Given the description of an element on the screen output the (x, y) to click on. 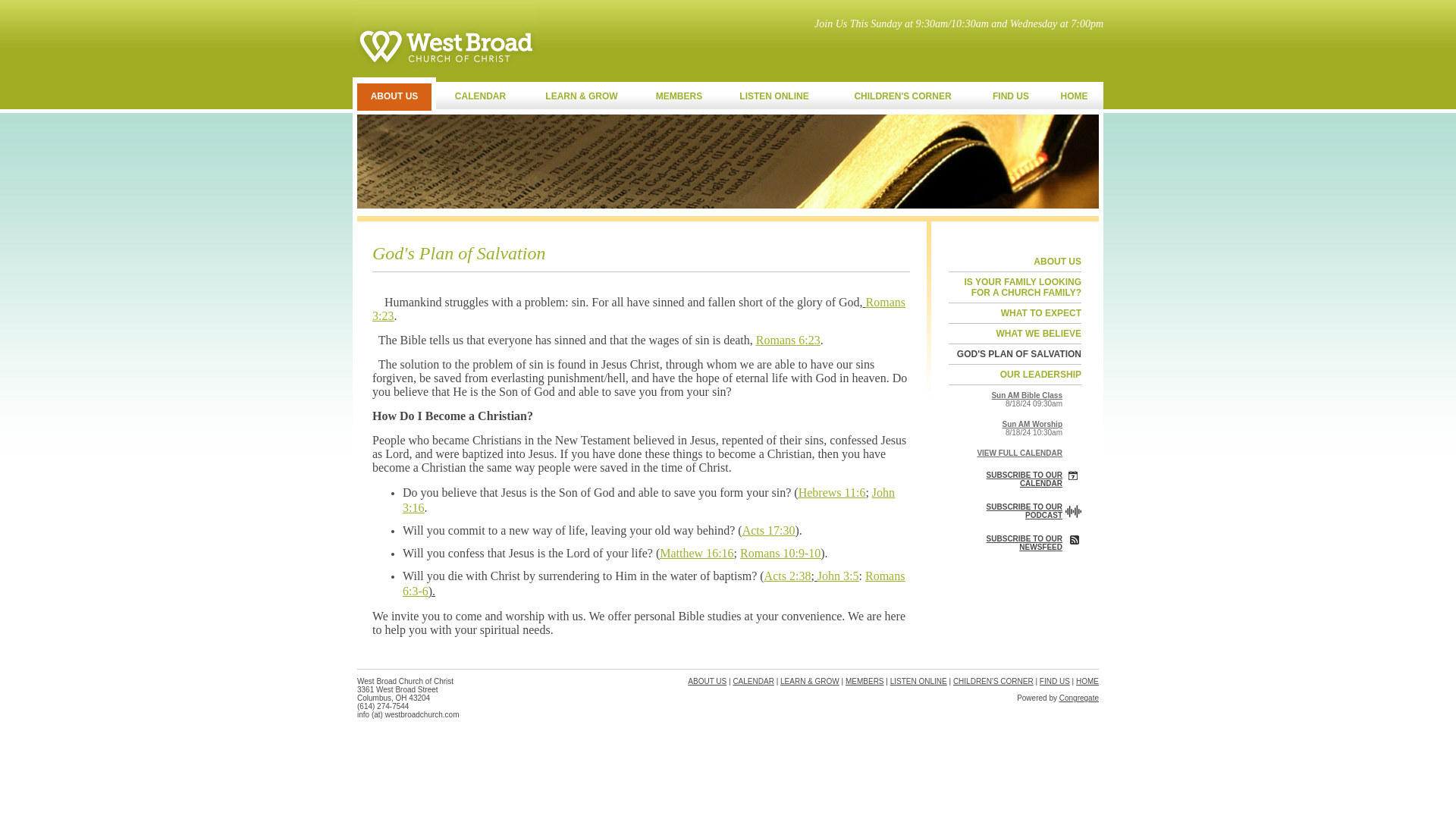
Romans 6:23 (788, 339)
MEMBERS (679, 95)
Romans 3:23 (638, 308)
John 3:16 (649, 500)
HOME (1074, 95)
Hebrews 11:6 (831, 492)
CHILDREN'S CORNER (902, 95)
CALENDAR (479, 95)
FIND US (1010, 95)
ABOUT US (393, 93)
